Given the description of an element on the screen output the (x, y) to click on. 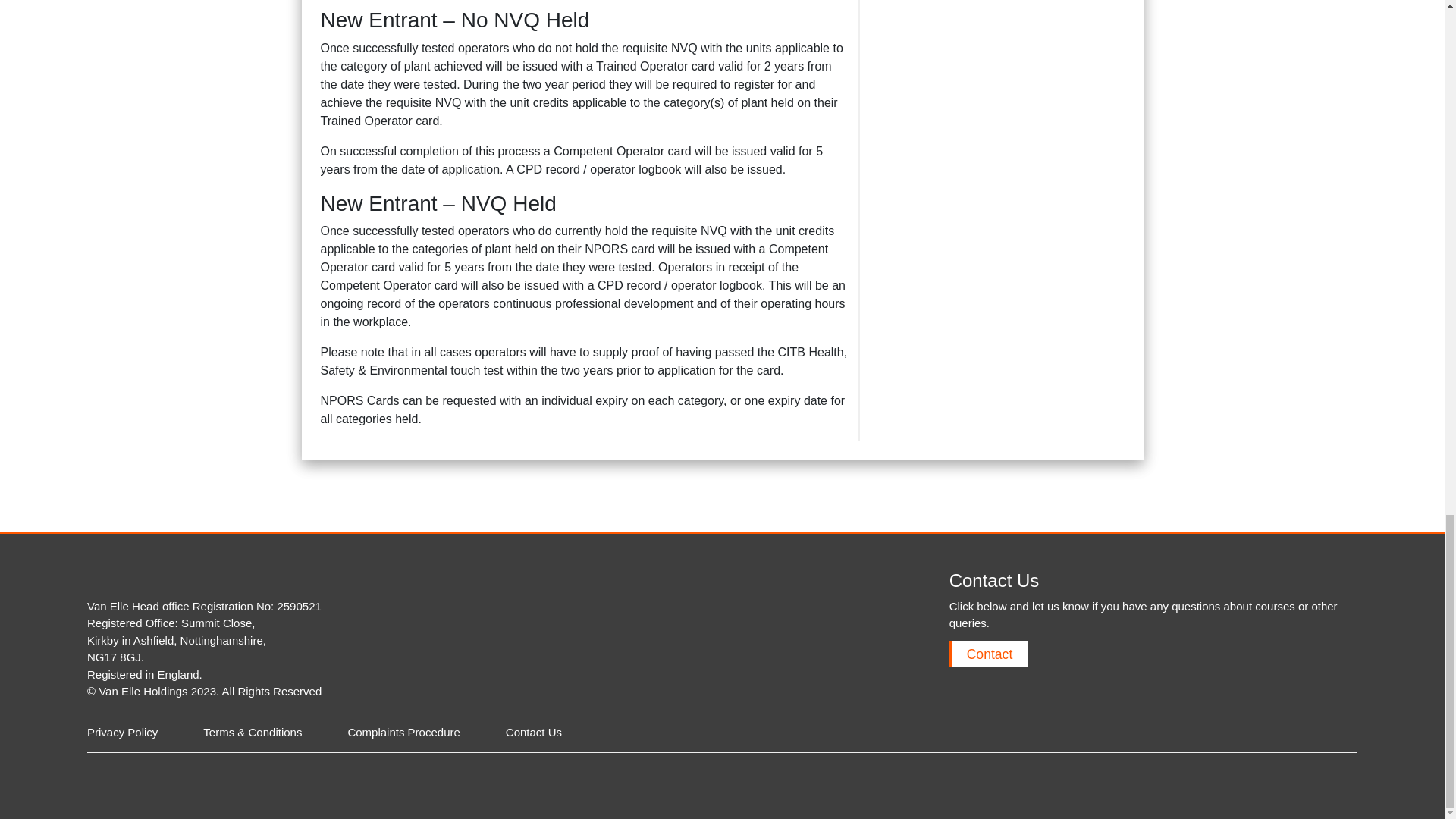
Privacy Policy (122, 731)
Contact Us (533, 731)
Complaints Procedure (403, 731)
Contact (988, 653)
